Given the description of an element on the screen output the (x, y) to click on. 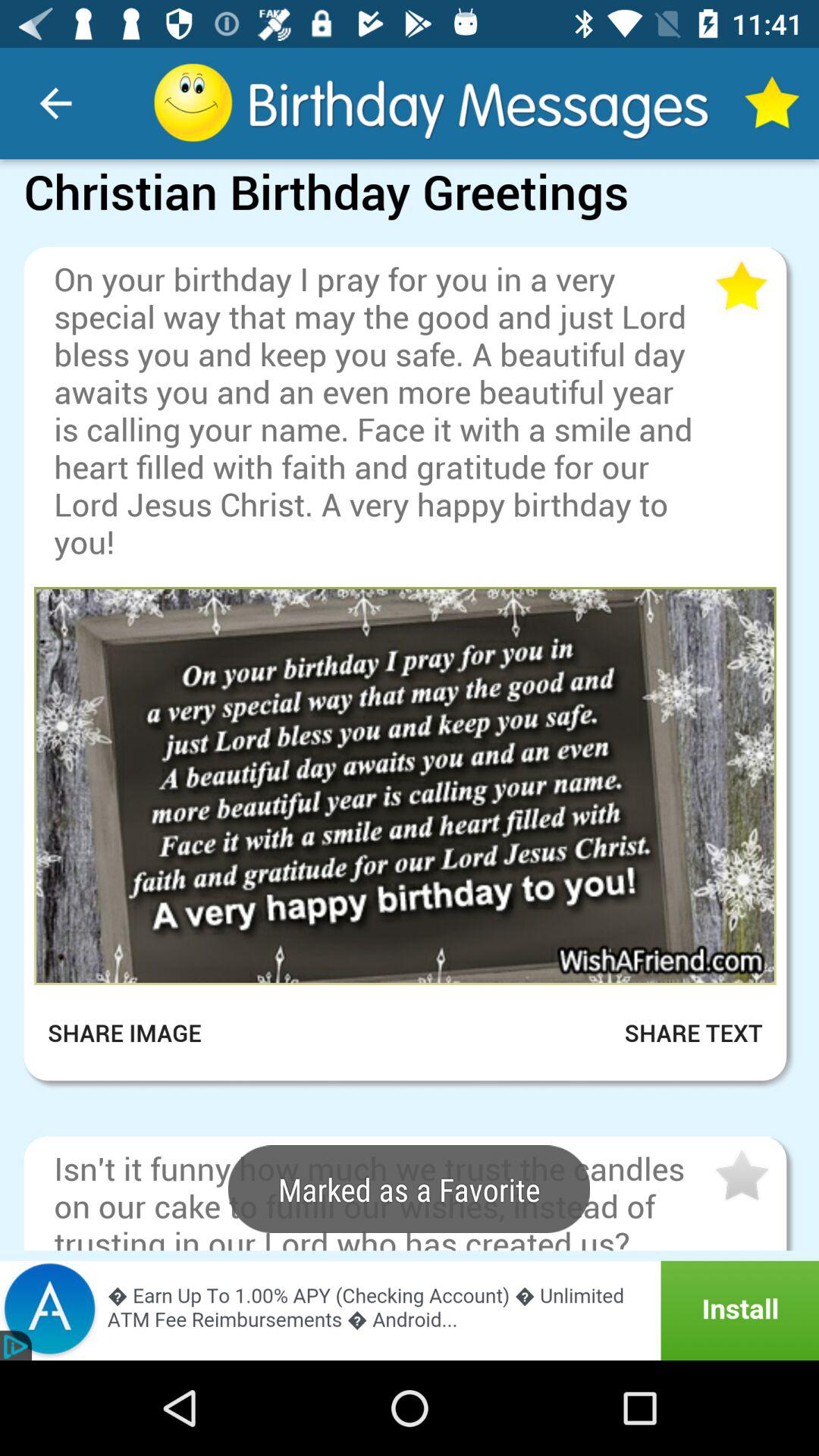
press the item to the left of share text icon (134, 1032)
